Given the description of an element on the screen output the (x, y) to click on. 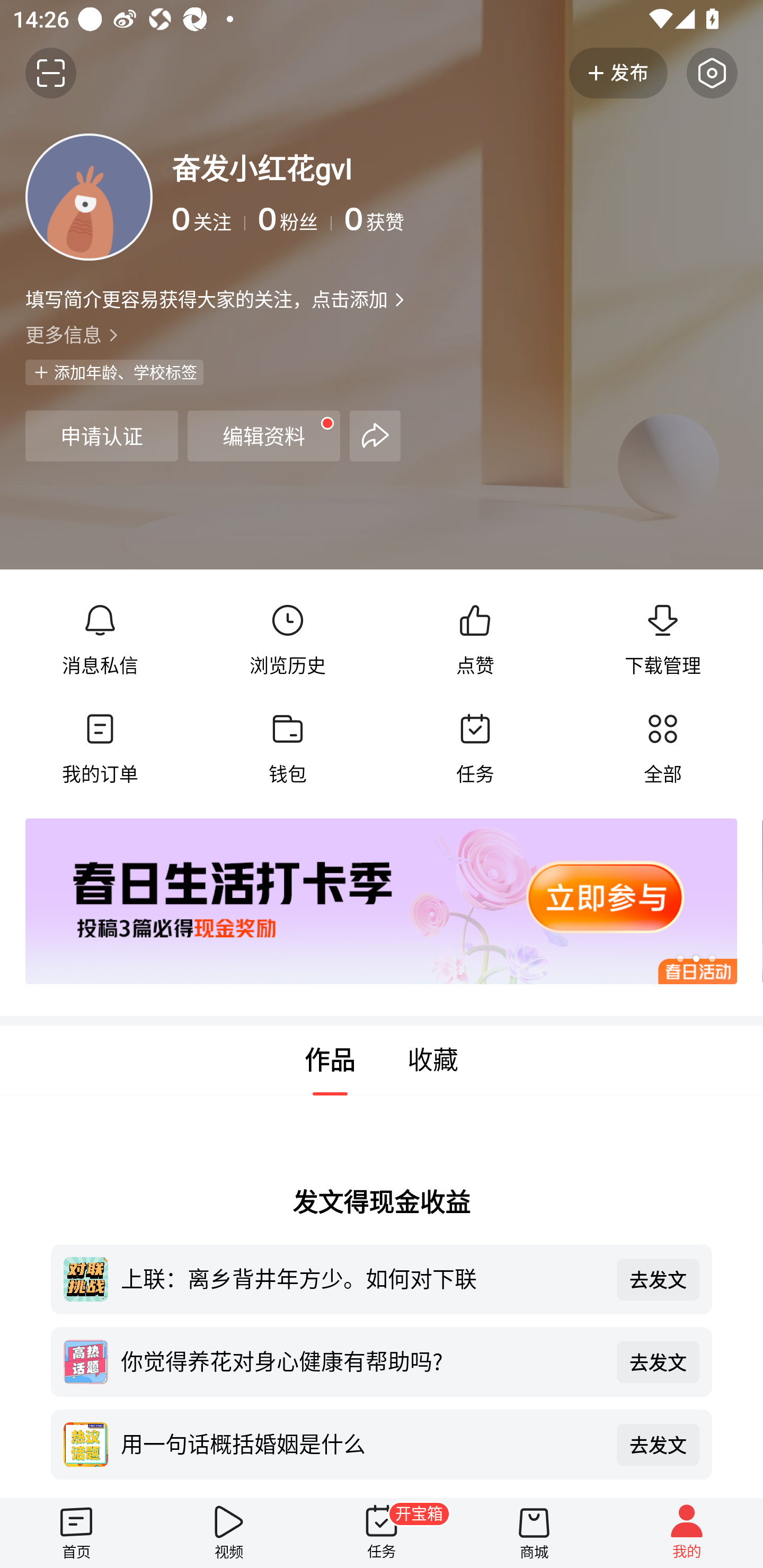
扫一扫 (50, 72)
发布 (618, 72)
设置 (711, 72)
头像 (88, 196)
0 关注 (208, 219)
0 粉丝 (294, 219)
0 获赞 (540, 219)
填写简介更容易获得大家的关注，点击添加 (206, 298)
更多信息 (381, 333)
添加年龄、学校标签 (114, 372)
申请认证 (101, 435)
编辑资料 (263, 435)
分享 (374, 435)
消息私信 (99, 639)
浏览历史 (287, 639)
点赞 (475, 639)
下载管理 (662, 639)
我的订单 (99, 748)
钱包 (287, 748)
任务 (475, 748)
全部 (662, 748)
图片链接 (368, 901)
作品 (329, 1060)
收藏 (432, 1060)
上联：离乡背井年方少。如何对下联 (362, 1278)
去发文 (657, 1279)
你觉得养花对身心健康有帮助吗? (362, 1360)
去发文 (657, 1361)
用一句话概括婚姻是什么 (362, 1443)
去发文 (657, 1444)
首页 (76, 1532)
视频 (228, 1532)
任务 开宝箱 (381, 1532)
商城 (533, 1532)
我的 (686, 1532)
